Given the description of an element on the screen output the (x, y) to click on. 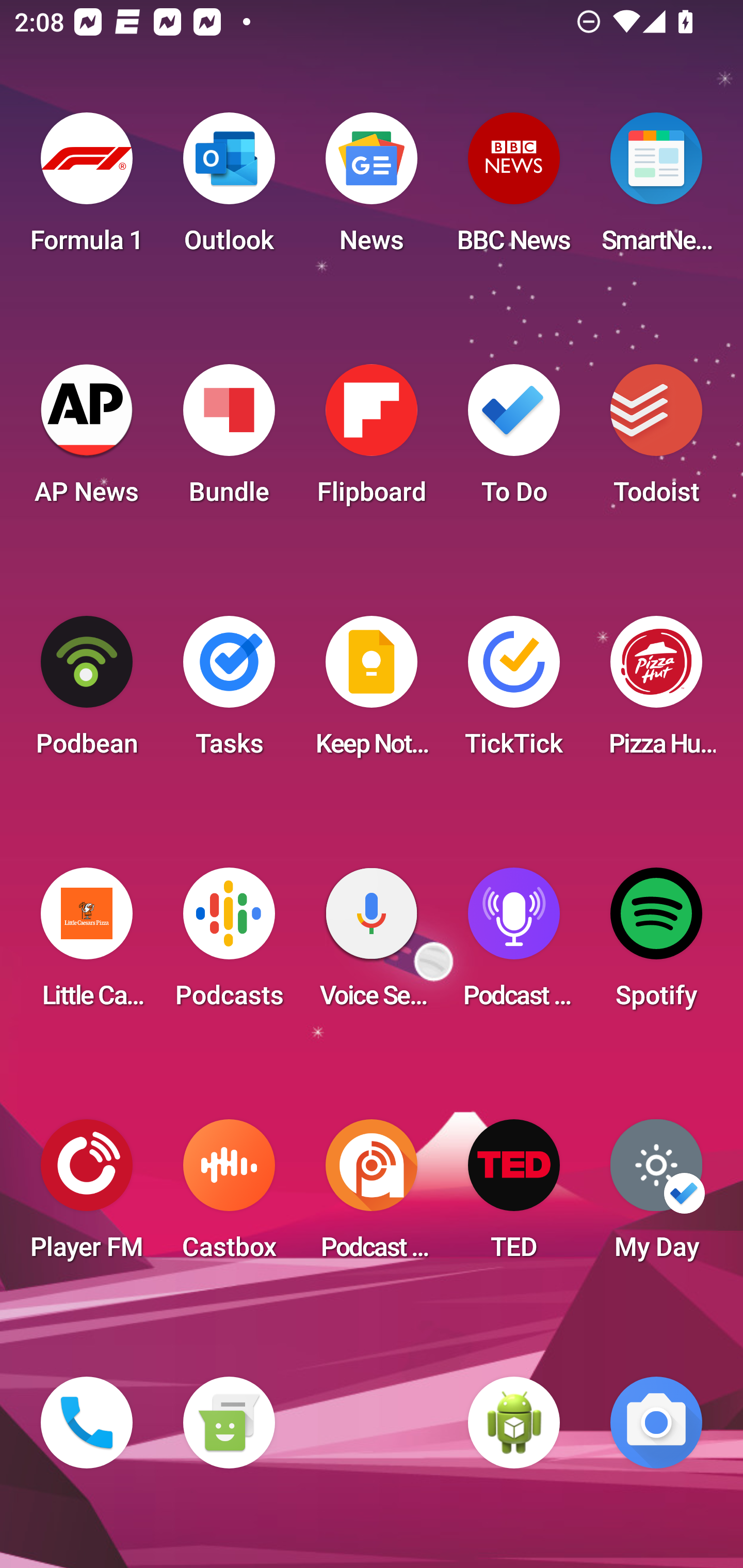
Formula 1 (86, 188)
Outlook (228, 188)
News (371, 188)
BBC News (513, 188)
SmartNews (656, 188)
AP News (86, 440)
Bundle (228, 440)
Flipboard (371, 440)
To Do (513, 440)
Todoist (656, 440)
Podbean (86, 692)
Tasks (228, 692)
Keep Notes (371, 692)
TickTick (513, 692)
Pizza Hut HK & Macau (656, 692)
Little Caesars Pizza (86, 943)
Podcasts (228, 943)
Voice Search (371, 943)
Podcast Player (513, 943)
Spotify (656, 943)
Player FM (86, 1195)
Castbox (228, 1195)
Podcast Addict (371, 1195)
TED (513, 1195)
My Day (656, 1195)
Phone (86, 1422)
Messaging (228, 1422)
WebView Browser Tester (513, 1422)
Camera (656, 1422)
